Given the description of an element on the screen output the (x, y) to click on. 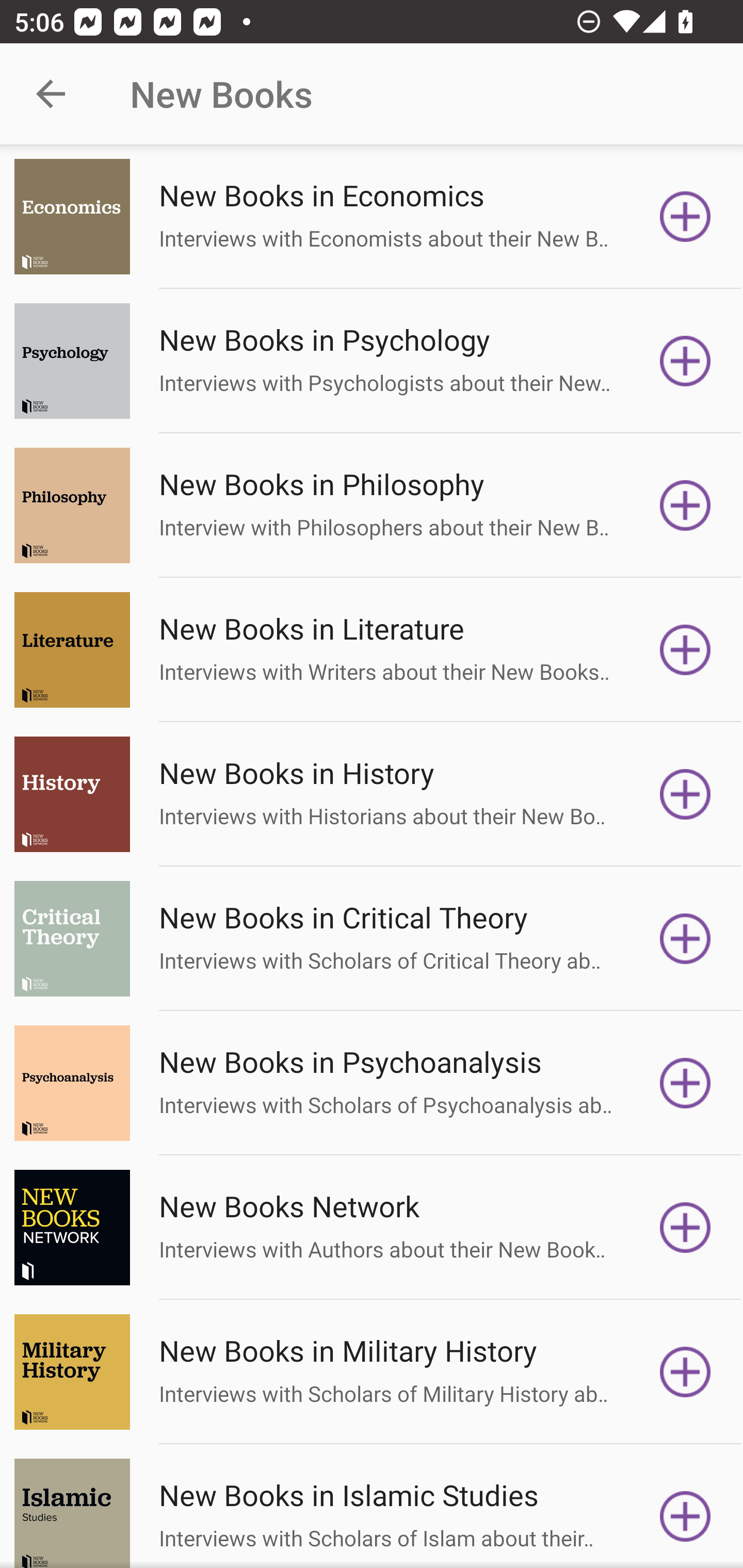
Navigate up (50, 93)
Subscribe (685, 216)
Subscribe (685, 360)
Subscribe (685, 505)
Subscribe (685, 649)
Subscribe (685, 793)
Subscribe (685, 939)
Subscribe (685, 1083)
Subscribe (685, 1227)
Subscribe (685, 1371)
Subscribe (685, 1513)
